Given the description of an element on the screen output the (x, y) to click on. 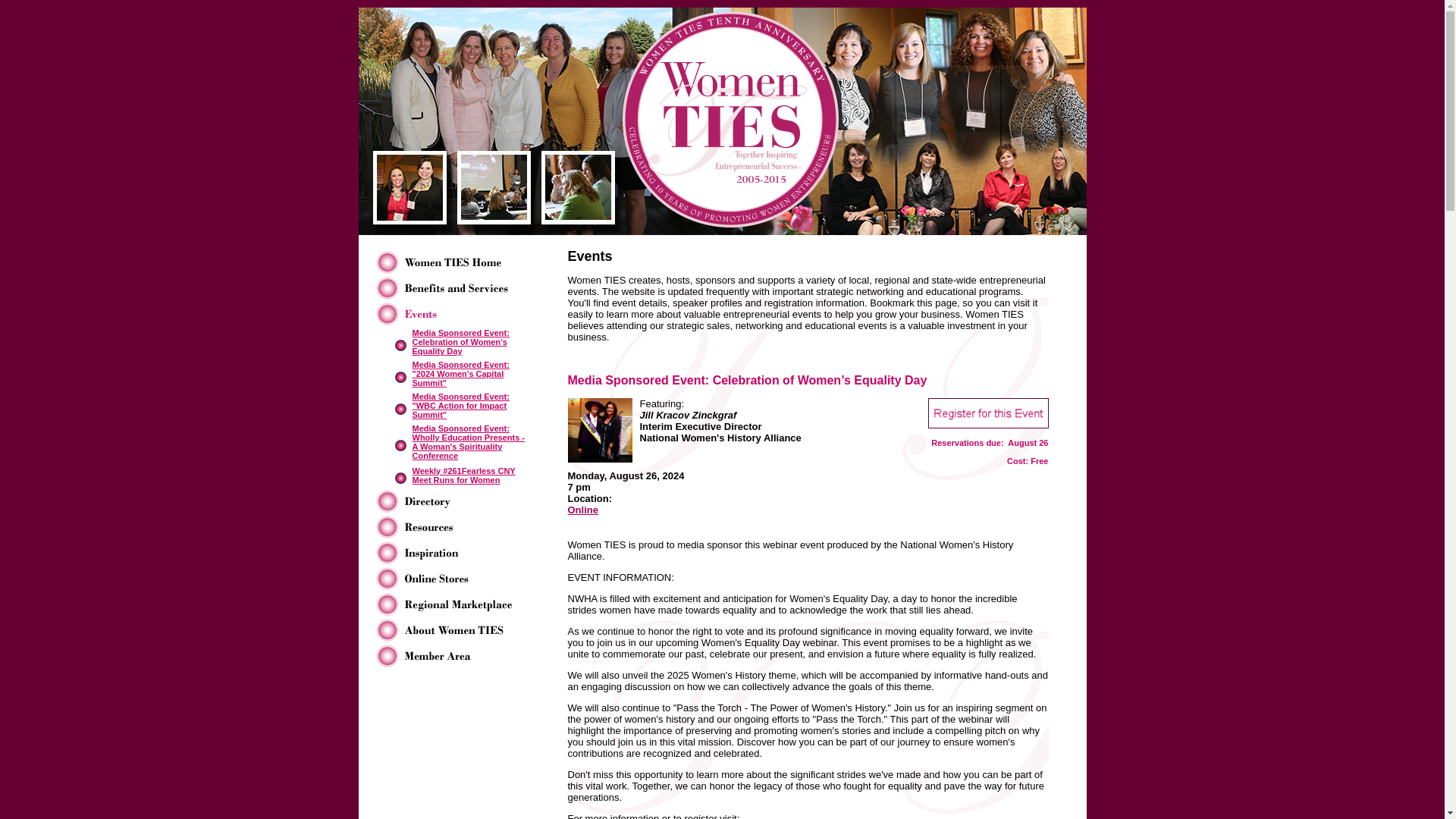
Media Sponsored Event: "2024 Women's Capital Summit" (460, 373)
Online (581, 509)
Media Sponsored Event: "WBC Action for Impact Summit" (460, 405)
